Given the description of an element on the screen output the (x, y) to click on. 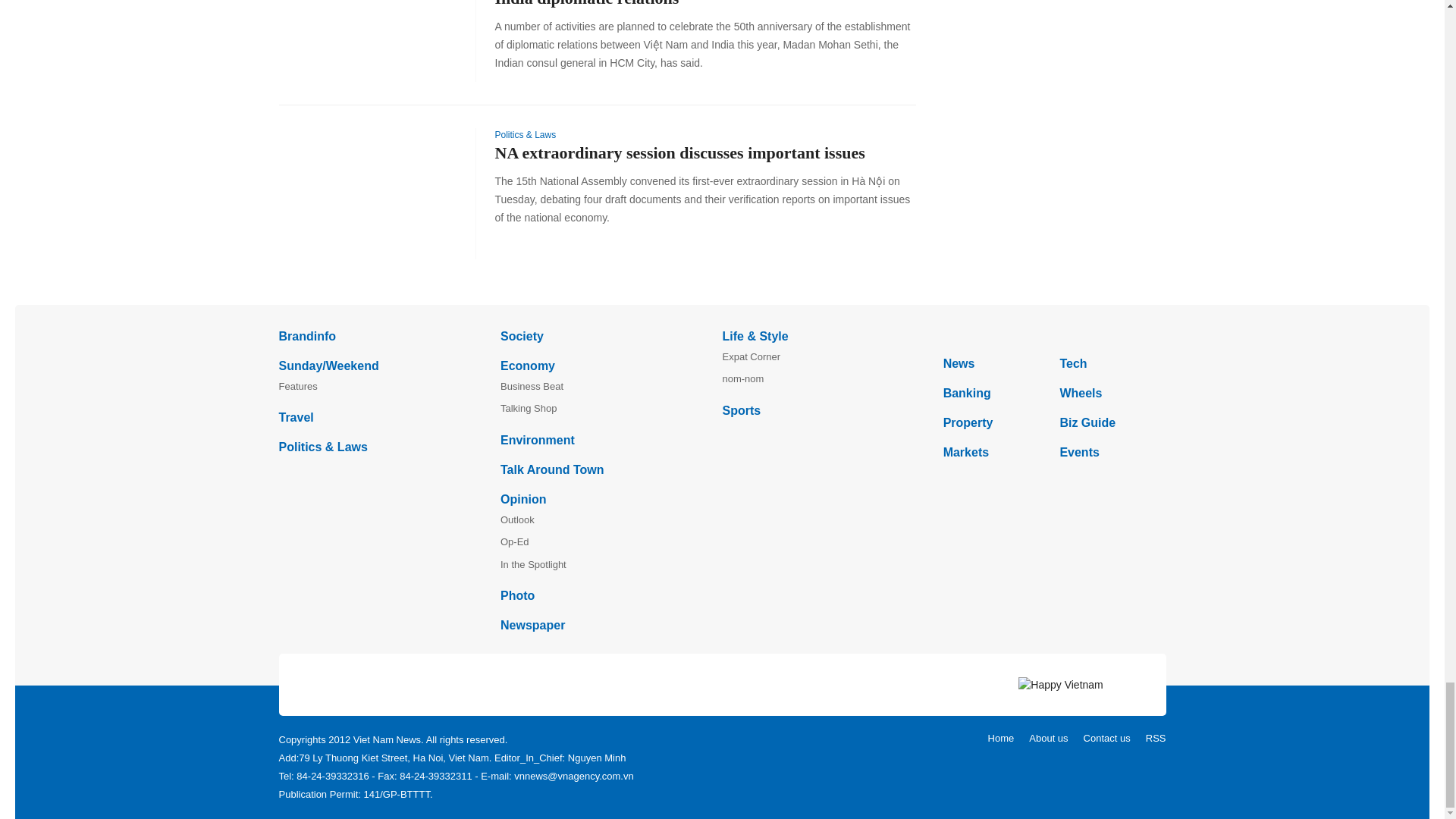
bizhub (1054, 335)
